Given the description of an element on the screen output the (x, y) to click on. 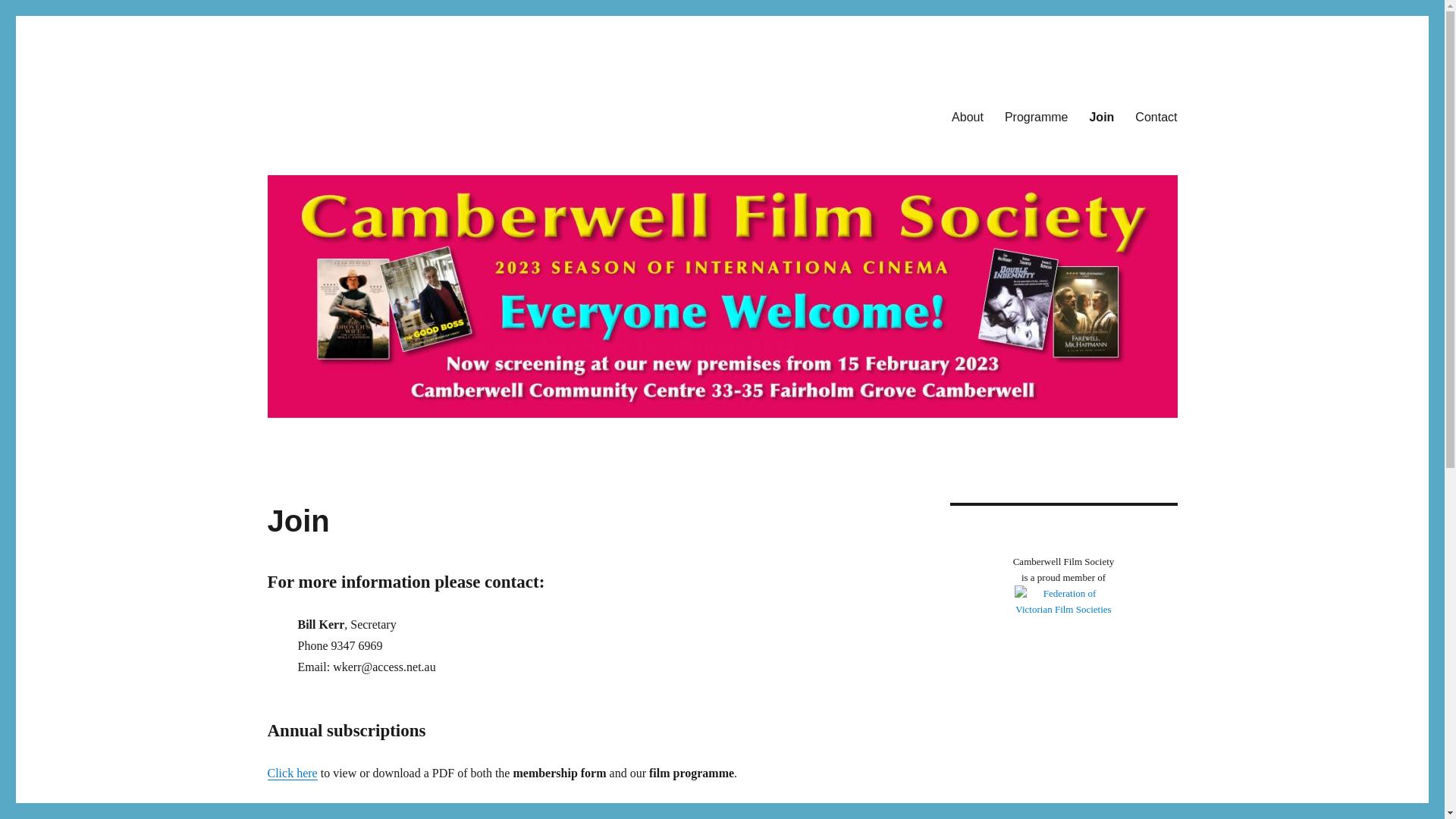
Contact Element type: text (1155, 116)
Camberwell Film Society Element type: text (391, 92)
Programme Element type: text (1036, 116)
Join Element type: text (1101, 116)
Click here Element type: text (291, 772)
About Element type: text (967, 116)
